Given the description of an element on the screen output the (x, y) to click on. 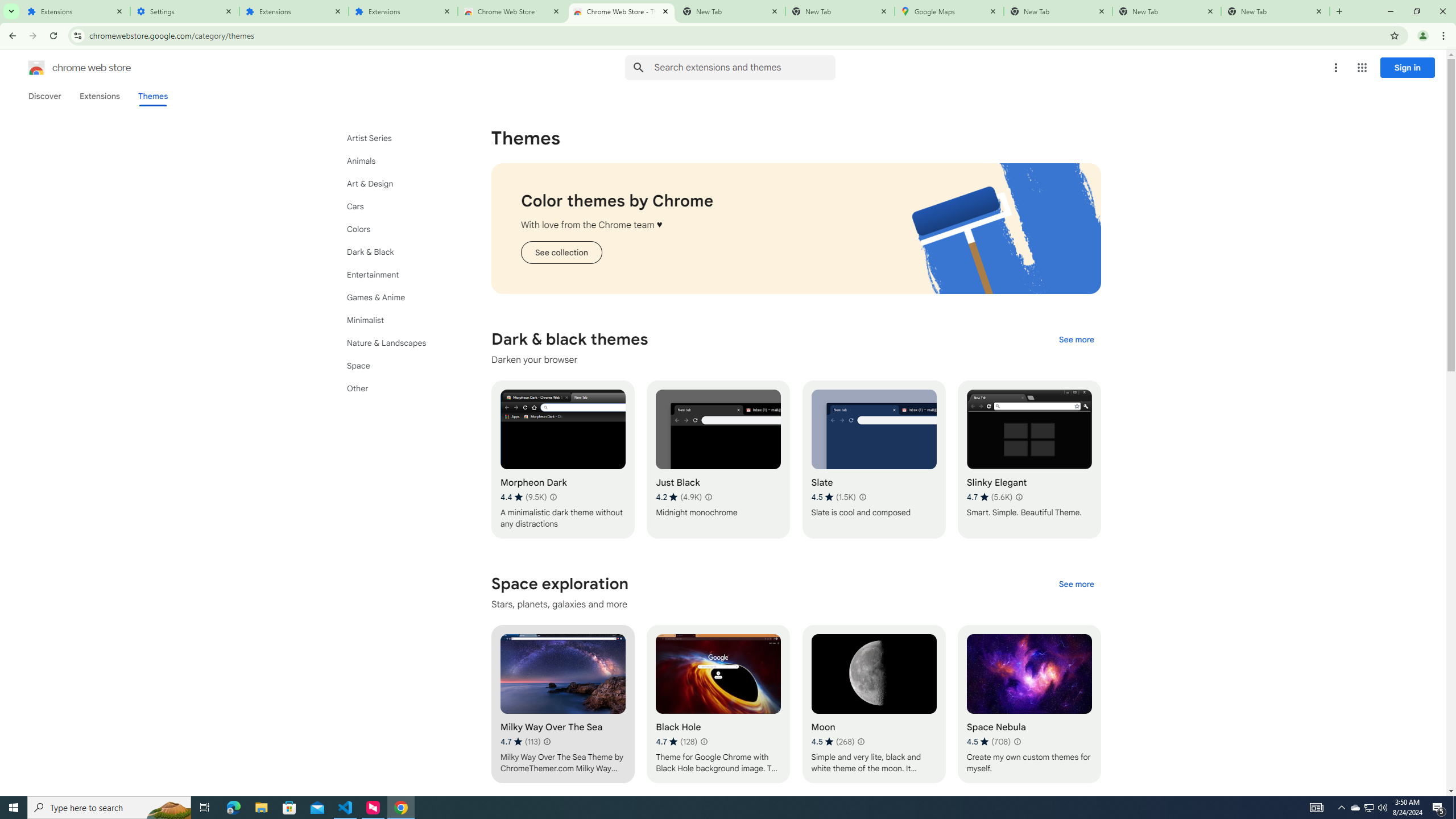
Average rating 4.4 out of 5 stars. 9.5K ratings. (523, 496)
Average rating 4.7 out of 5 stars. 128 ratings. (676, 741)
Learn more about results and reviews "Just Black" (707, 496)
Nature & Landscapes (398, 342)
Minimalist (398, 319)
More options menu (1335, 67)
Chrome Web Store logo (36, 67)
Colors (398, 228)
Extensions (403, 11)
Chrome Web Store (512, 11)
Extensions (75, 11)
